Given the description of an element on the screen output the (x, y) to click on. 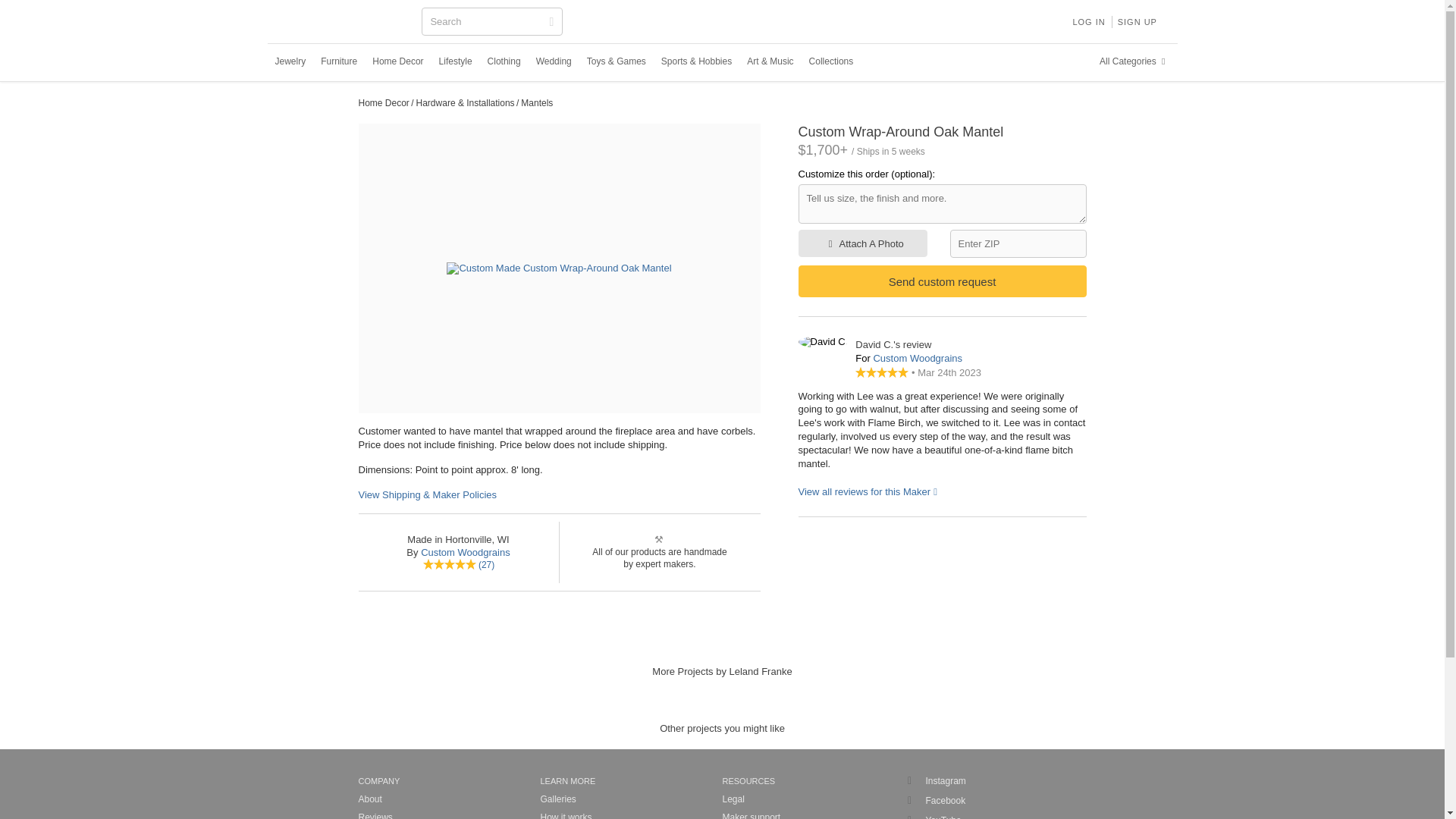
Log in to CustomMade (1087, 21)
LOG IN (1087, 21)
Custom Jewelry (289, 61)
CUSTOMMADE (342, 22)
All Categories (1134, 61)
Jewelry (289, 61)
SIGN UP (1137, 21)
